Given the description of an element on the screen output the (x, y) to click on. 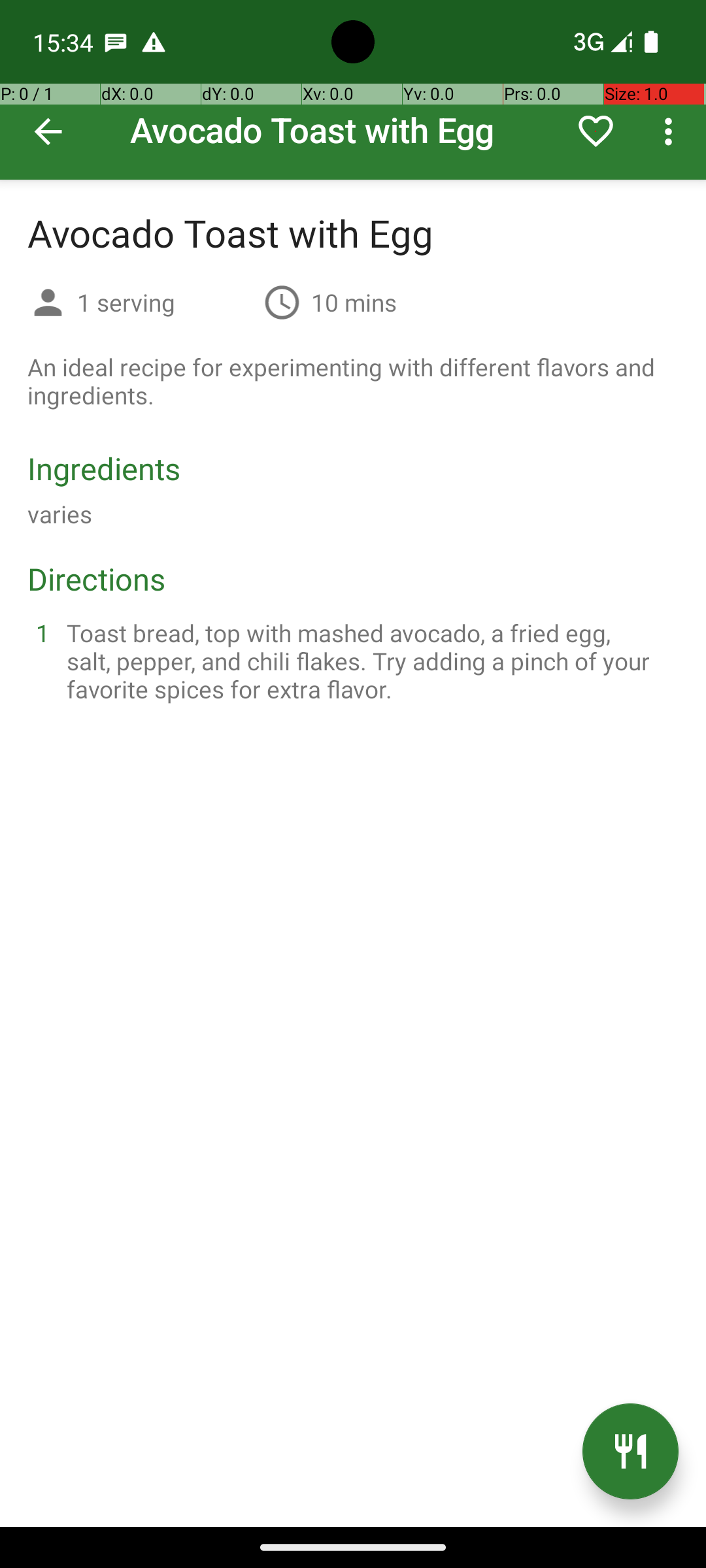
varies Element type: android.widget.TextView (59, 513)
Toast bread, top with mashed avocado, a fried egg, salt, pepper, and chili flakes. Try adding a pinch of your favorite spices for extra flavor. Element type: android.widget.TextView (368, 660)
